Given the description of an element on the screen output the (x, y) to click on. 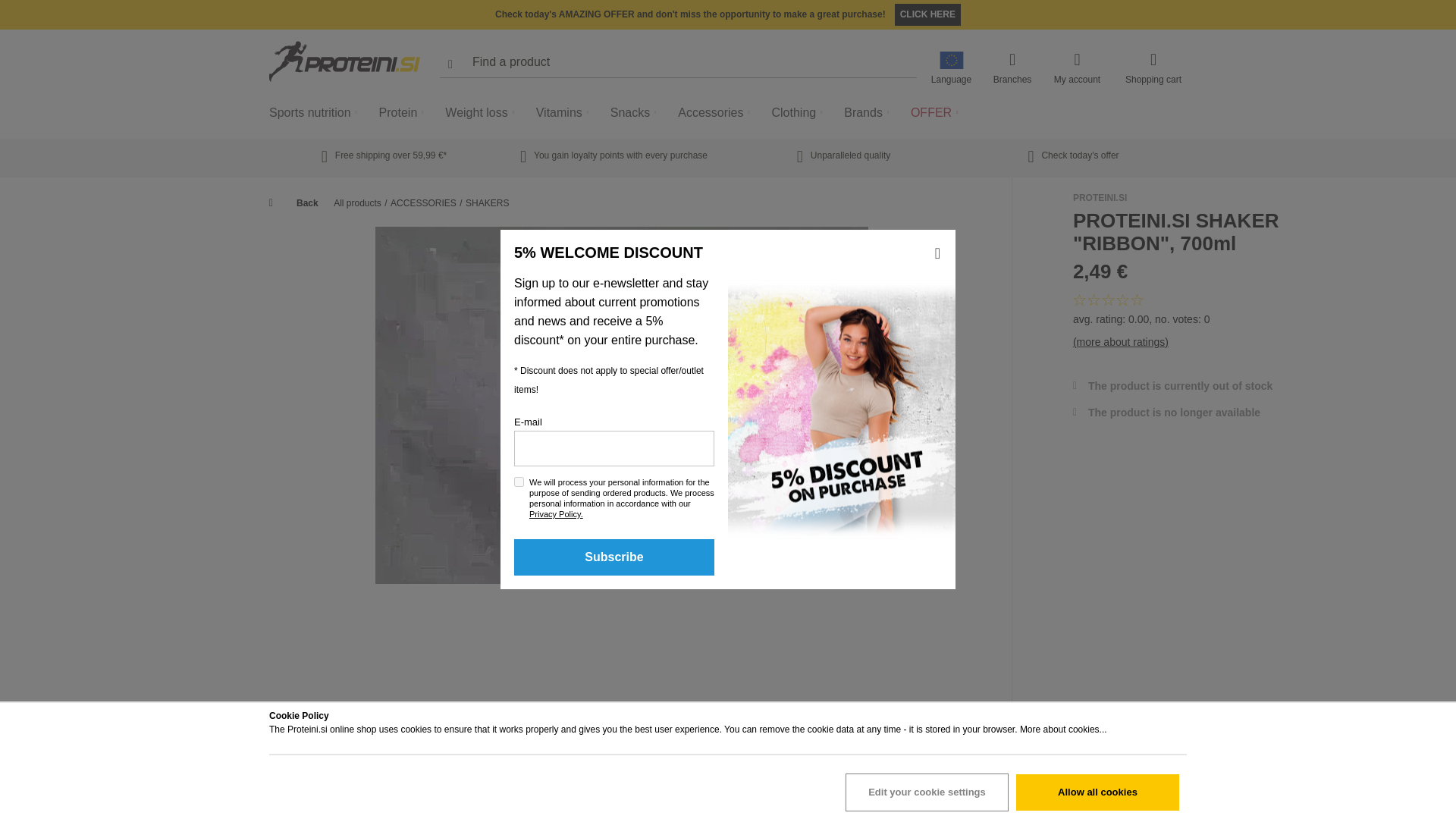
Clothing (799, 111)
Check today's offer (1072, 154)
All products (357, 203)
Weight loss (482, 111)
Snacks (636, 111)
OFFER (937, 111)
Back (299, 203)
Vitamins (564, 111)
Shopping cart (1152, 69)
1 (518, 481)
Sports nutrition (315, 111)
Accessories (716, 111)
You gain loyalty points with every purchase (613, 154)
Branches (1011, 69)
Unparalleled quality (842, 154)
